Given the description of an element on the screen output the (x, y) to click on. 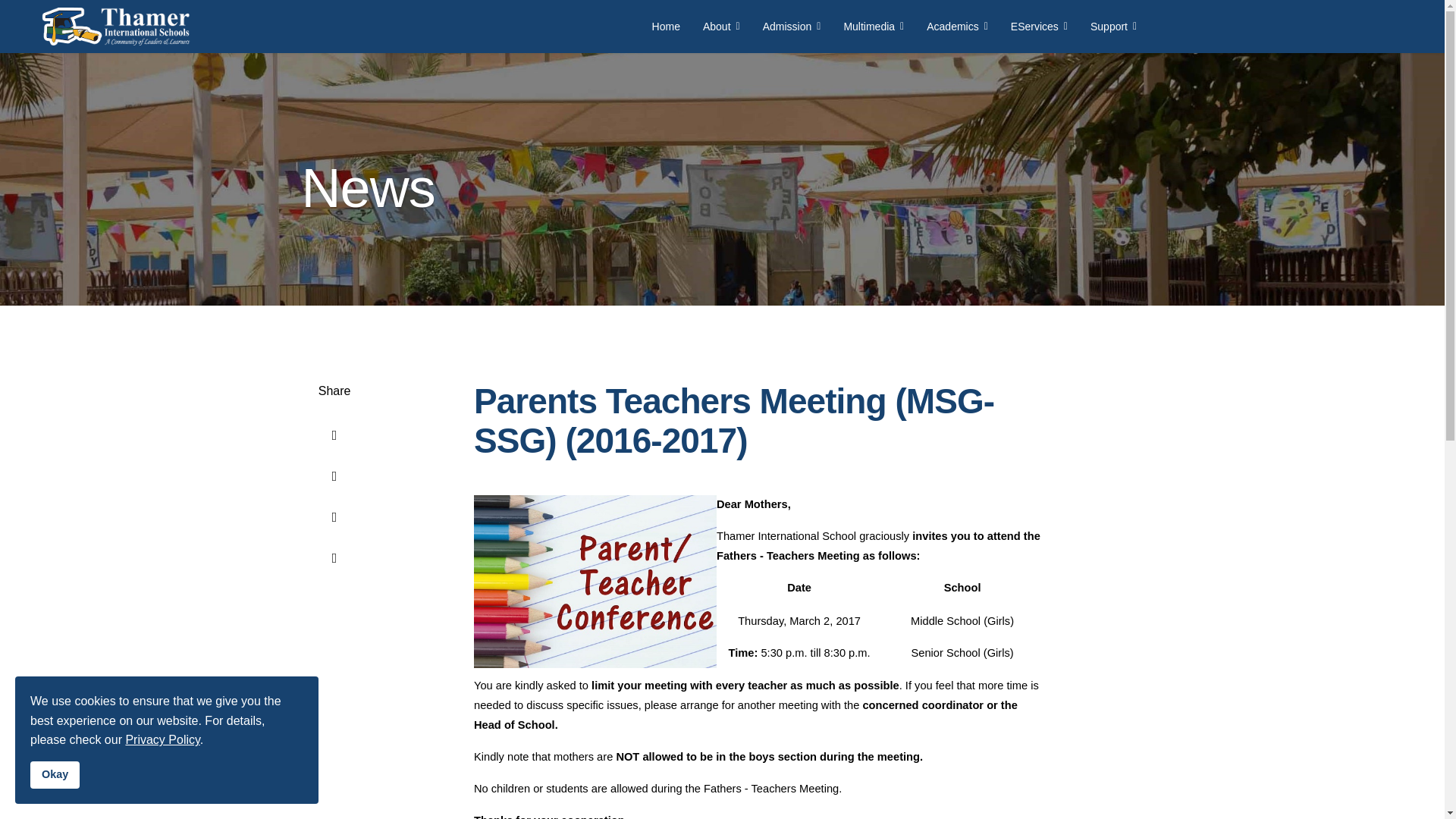
Admission (791, 26)
Home (665, 26)
About (721, 26)
